Given the description of an element on the screen output the (x, y) to click on. 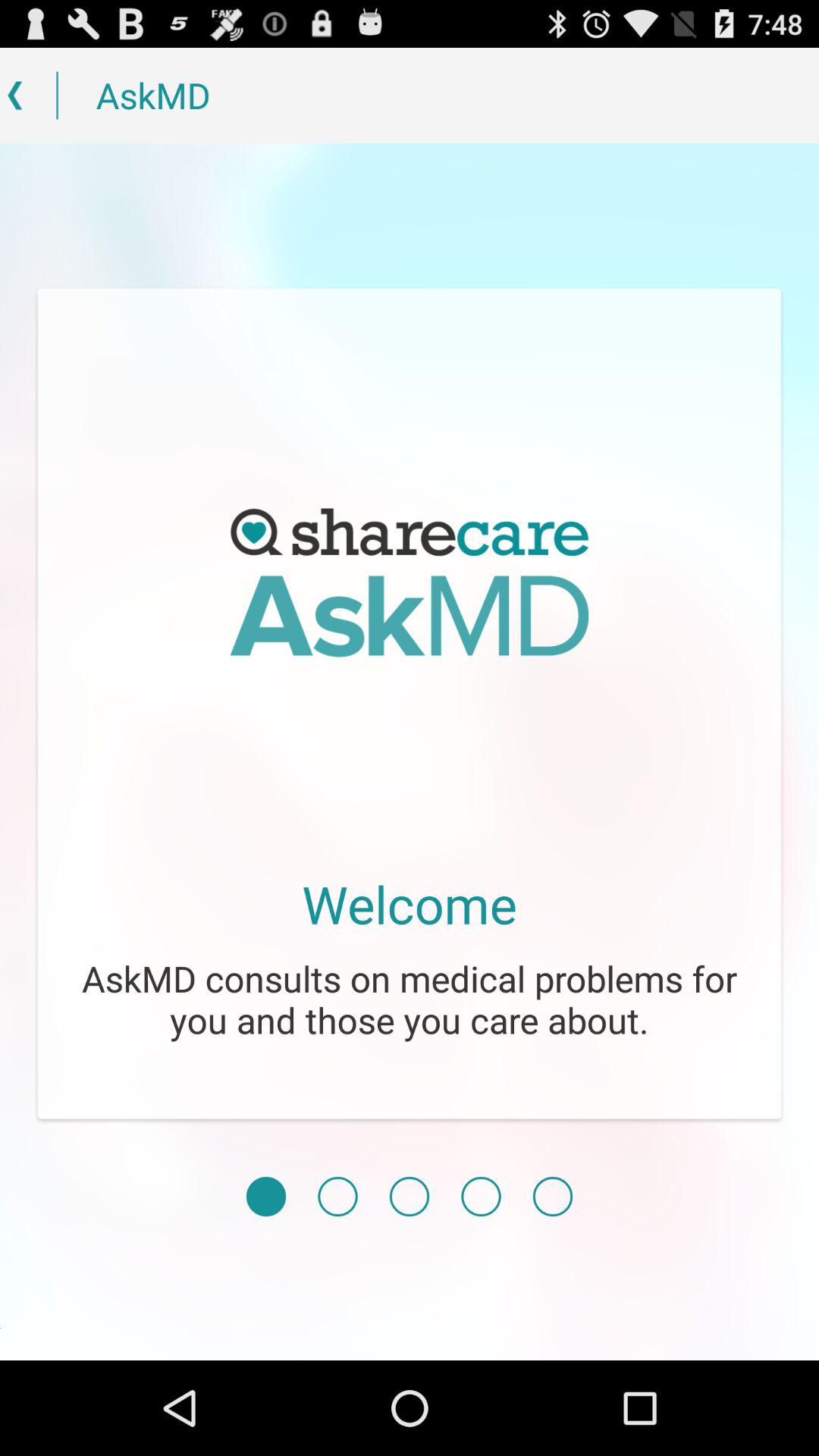
choose item below the askmd consults on item (337, 1196)
